Given the description of an element on the screen output the (x, y) to click on. 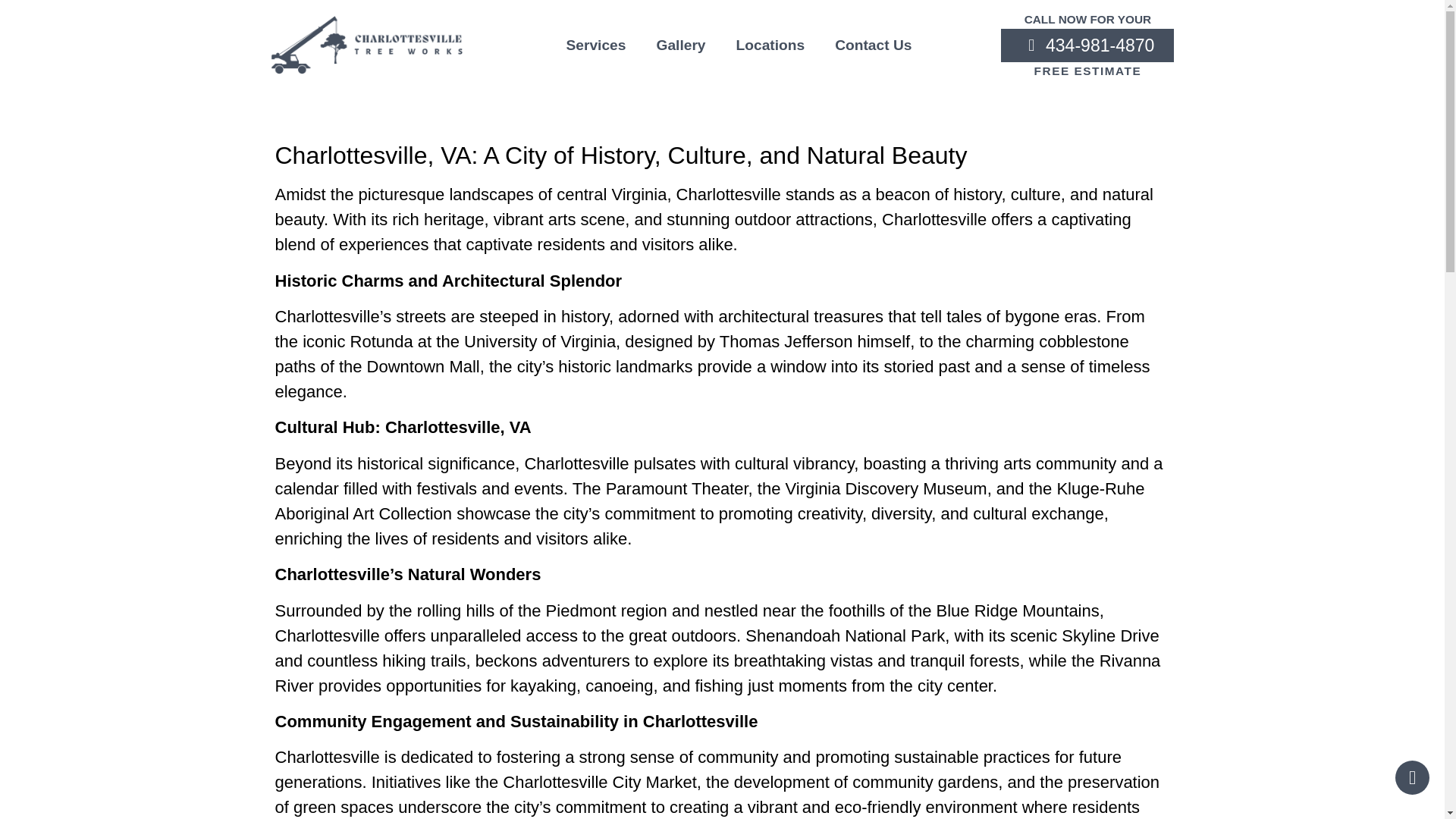
Contact Us (872, 45)
434-981-4870 (1087, 45)
Services (595, 45)
Locations (770, 45)
